Given the description of an element on the screen output the (x, y) to click on. 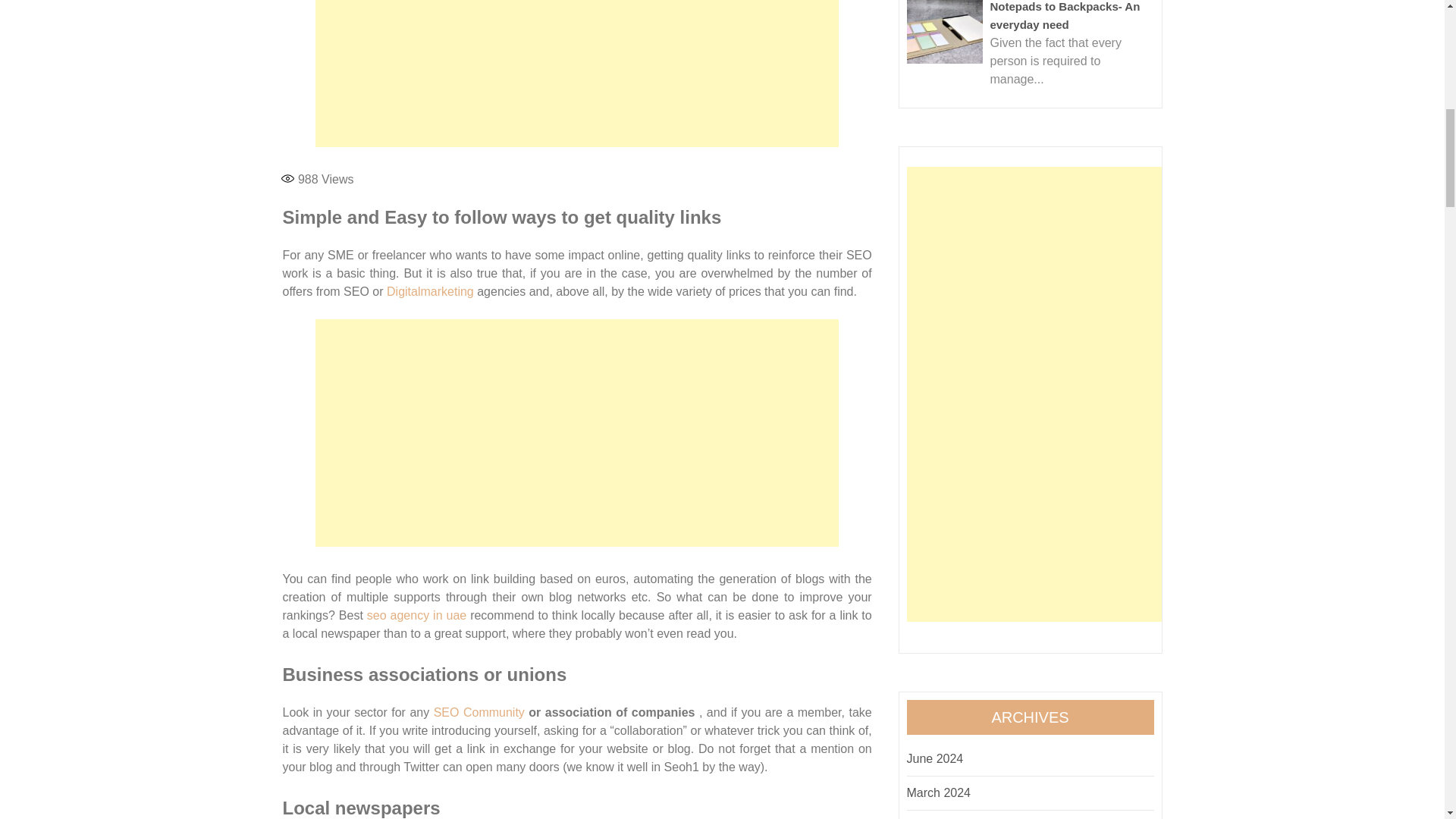
Notepads to Backpacks- An everyday need (1065, 15)
SEO Community (478, 712)
Digitalmarketing (430, 291)
June 2024 (935, 758)
Notepads to Backpacks- An everyday need (944, 31)
March 2024 (939, 792)
seo agency in uae (415, 615)
